Given the description of an element on the screen output the (x, y) to click on. 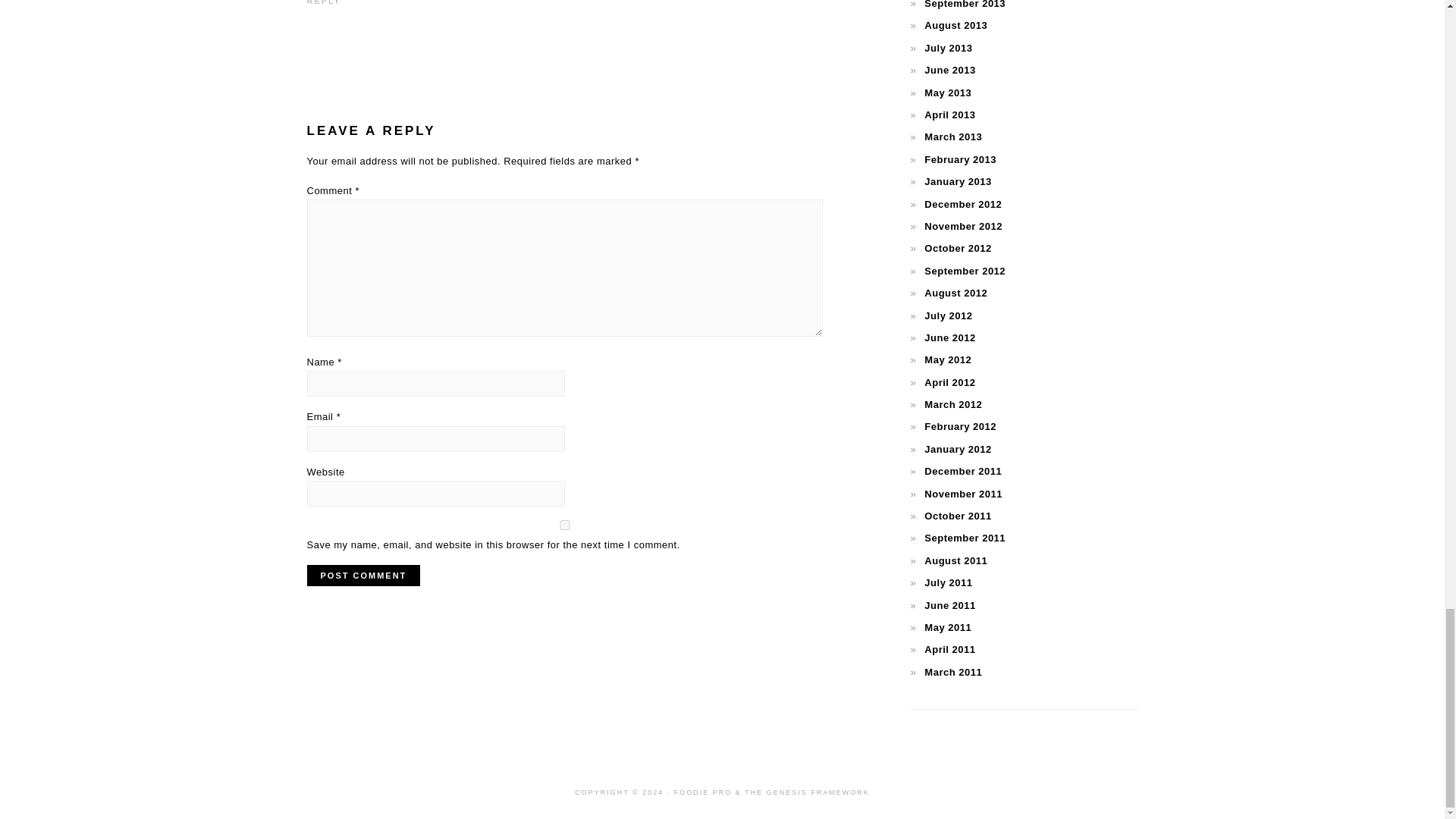
REPLY (322, 2)
yes (563, 524)
Post Comment (362, 575)
Post Comment (362, 575)
